Given the description of an element on the screen output the (x, y) to click on. 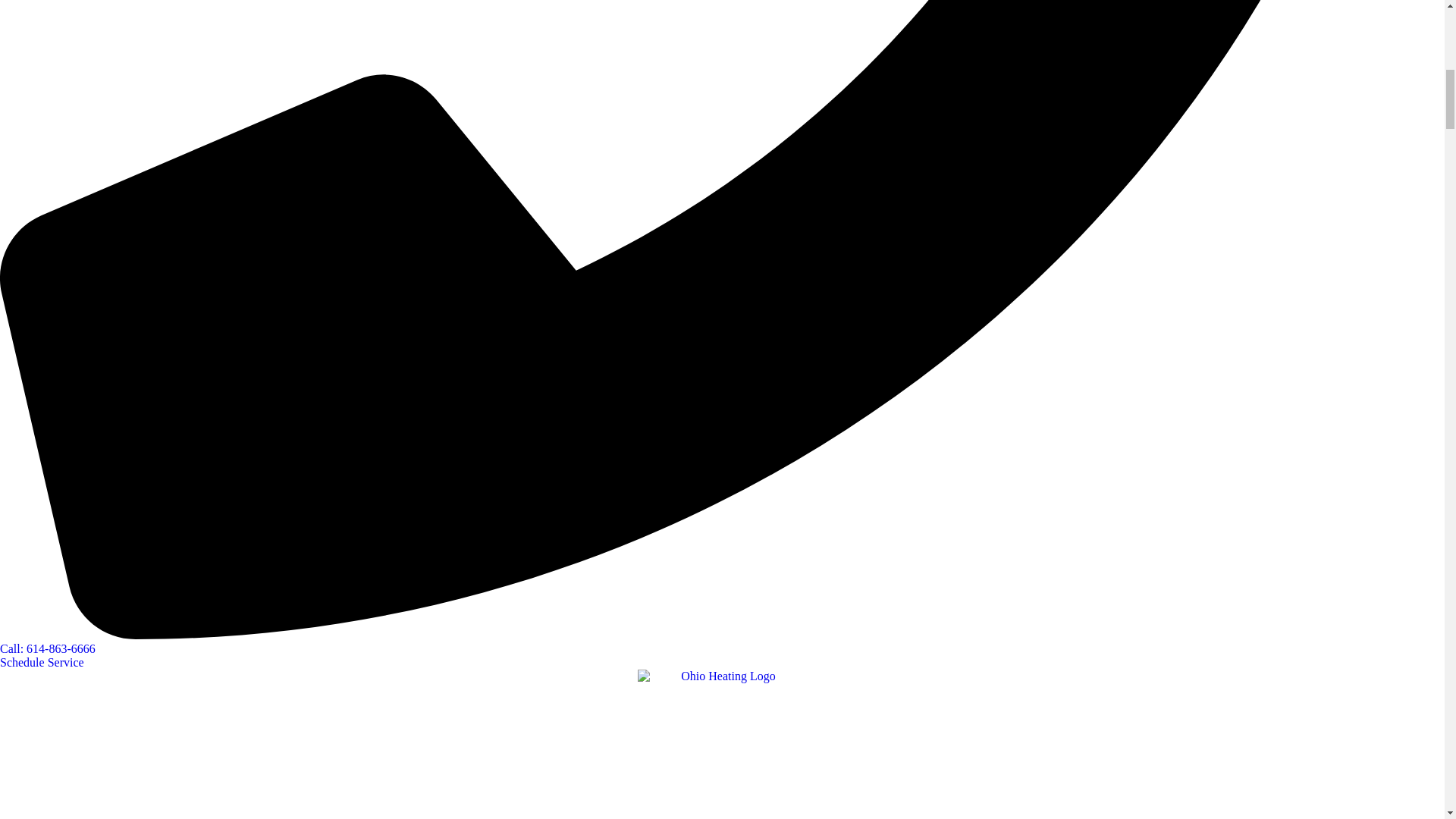
Schedule Service (42, 662)
